Given the description of an element on the screen output the (x, y) to click on. 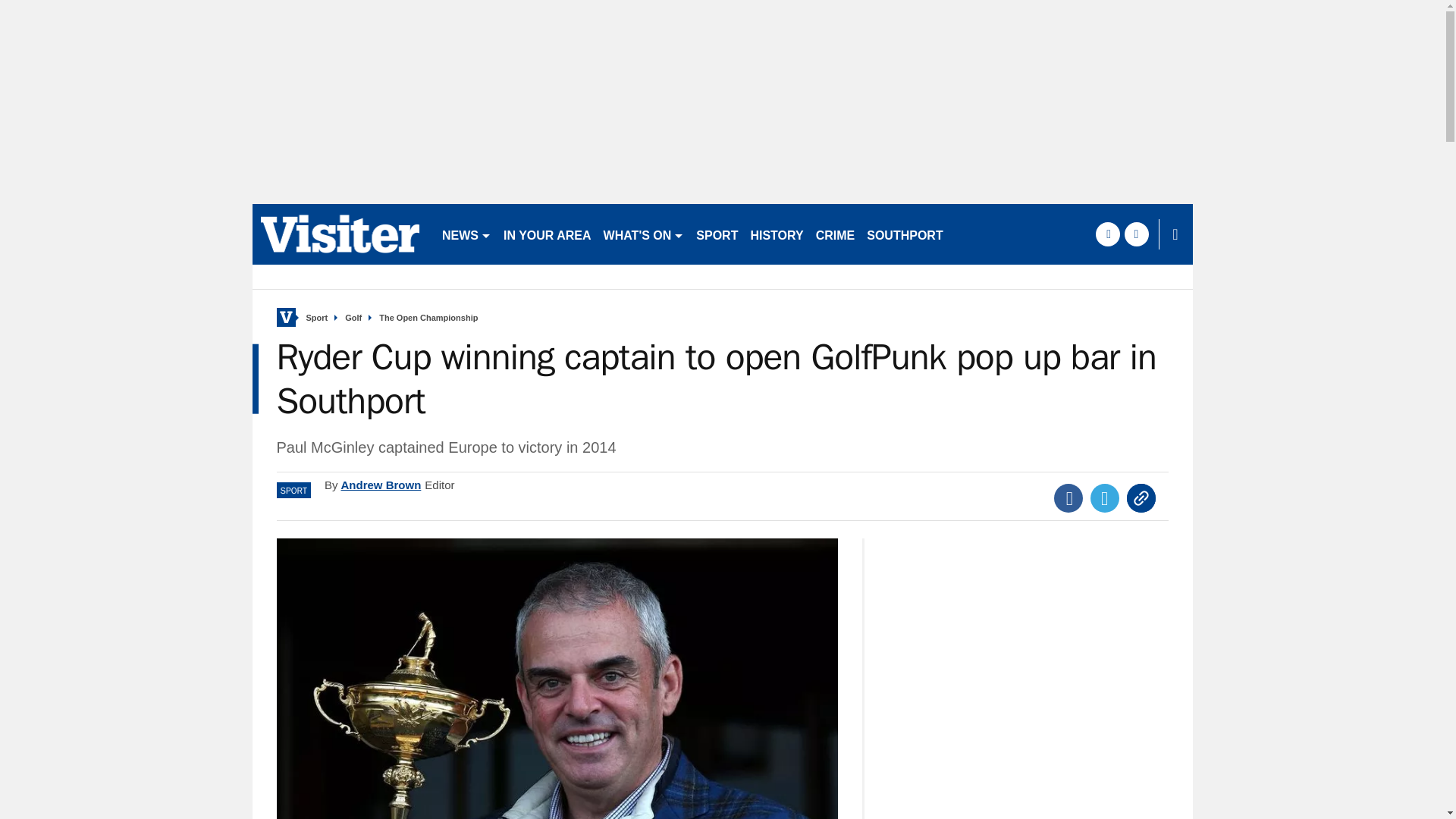
IN YOUR AREA (546, 233)
twitter (1136, 233)
SOUTHPORT FC (914, 233)
HISTORY (776, 233)
Twitter (1104, 498)
WHAT'S ON (643, 233)
facebook (1106, 233)
southportvisiter (339, 233)
Facebook (1068, 498)
NEWS (466, 233)
